Given the description of an element on the screen output the (x, y) to click on. 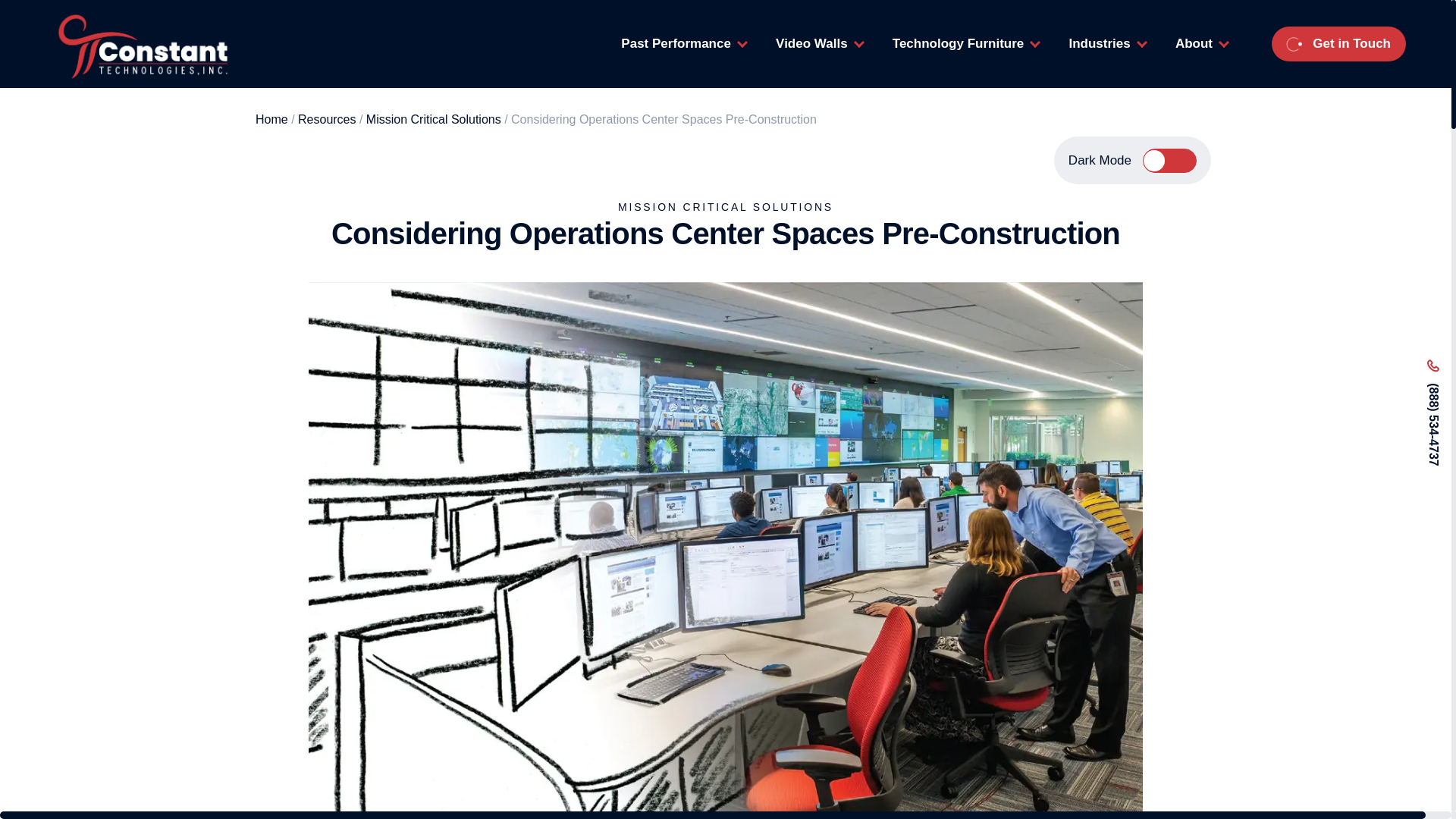
Go to Constant Technologies. (272, 119)
Go to Resources. (326, 119)
Go to the Mission Critical Solutions Category archives. (433, 119)
Get in Touch (1338, 43)
